Given the description of an element on the screen output the (x, y) to click on. 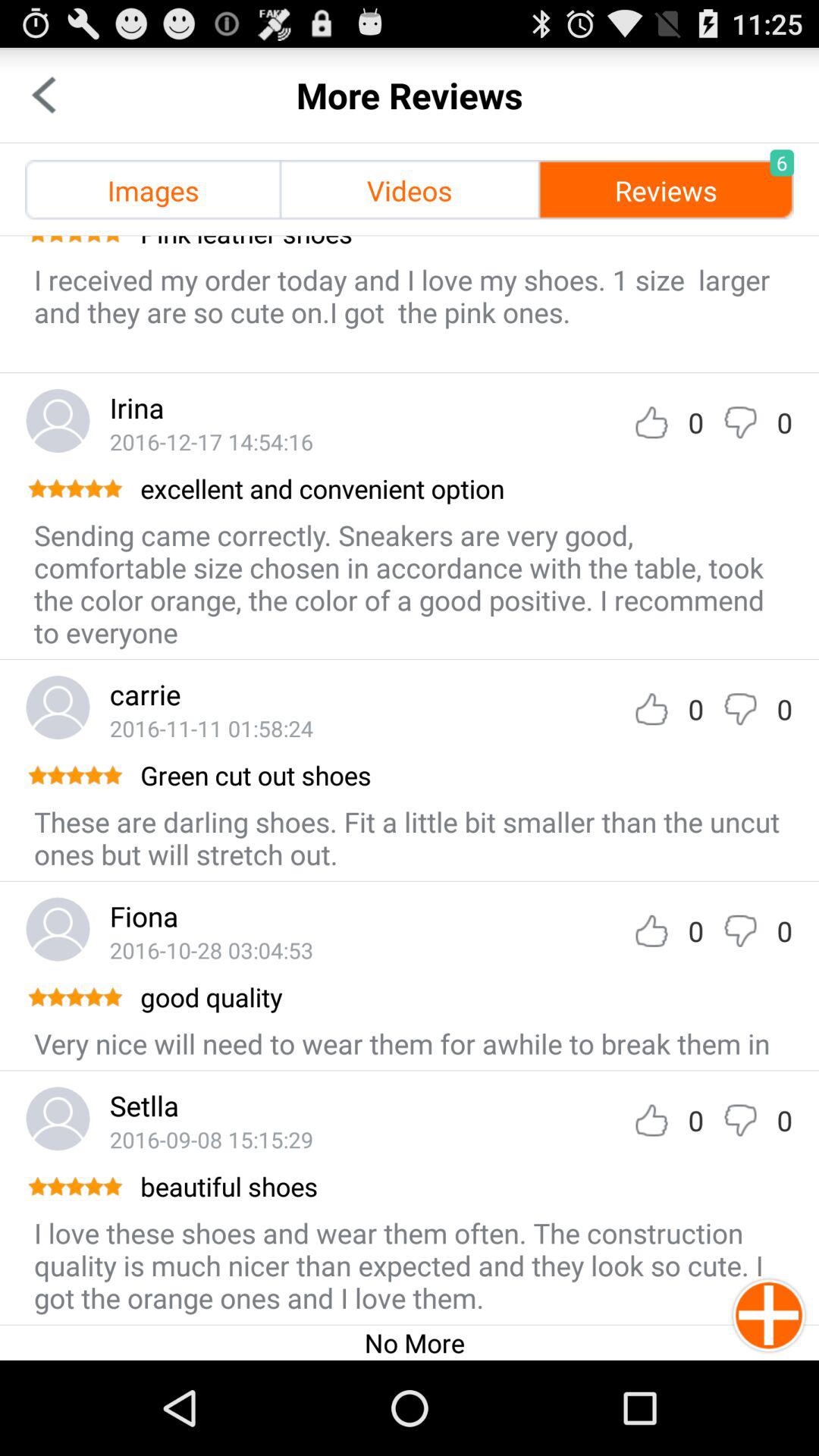
scroll until fiona app (143, 916)
